Given the description of an element on the screen output the (x, y) to click on. 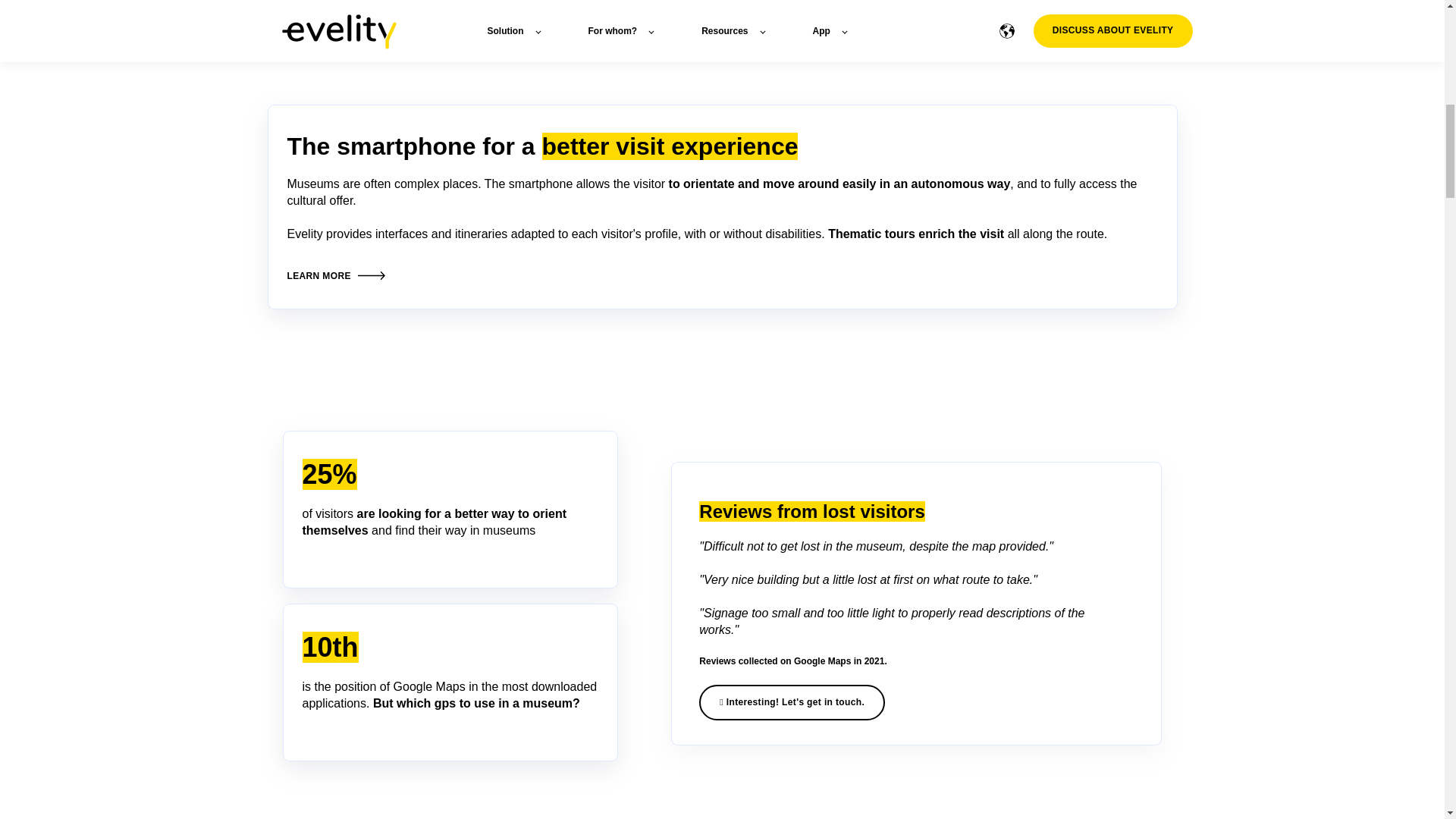
HubSpot Video (916, 28)
Illustration Evelity course for museum (449, 42)
LEARN MORE (335, 276)
